Given the description of an element on the screen output the (x, y) to click on. 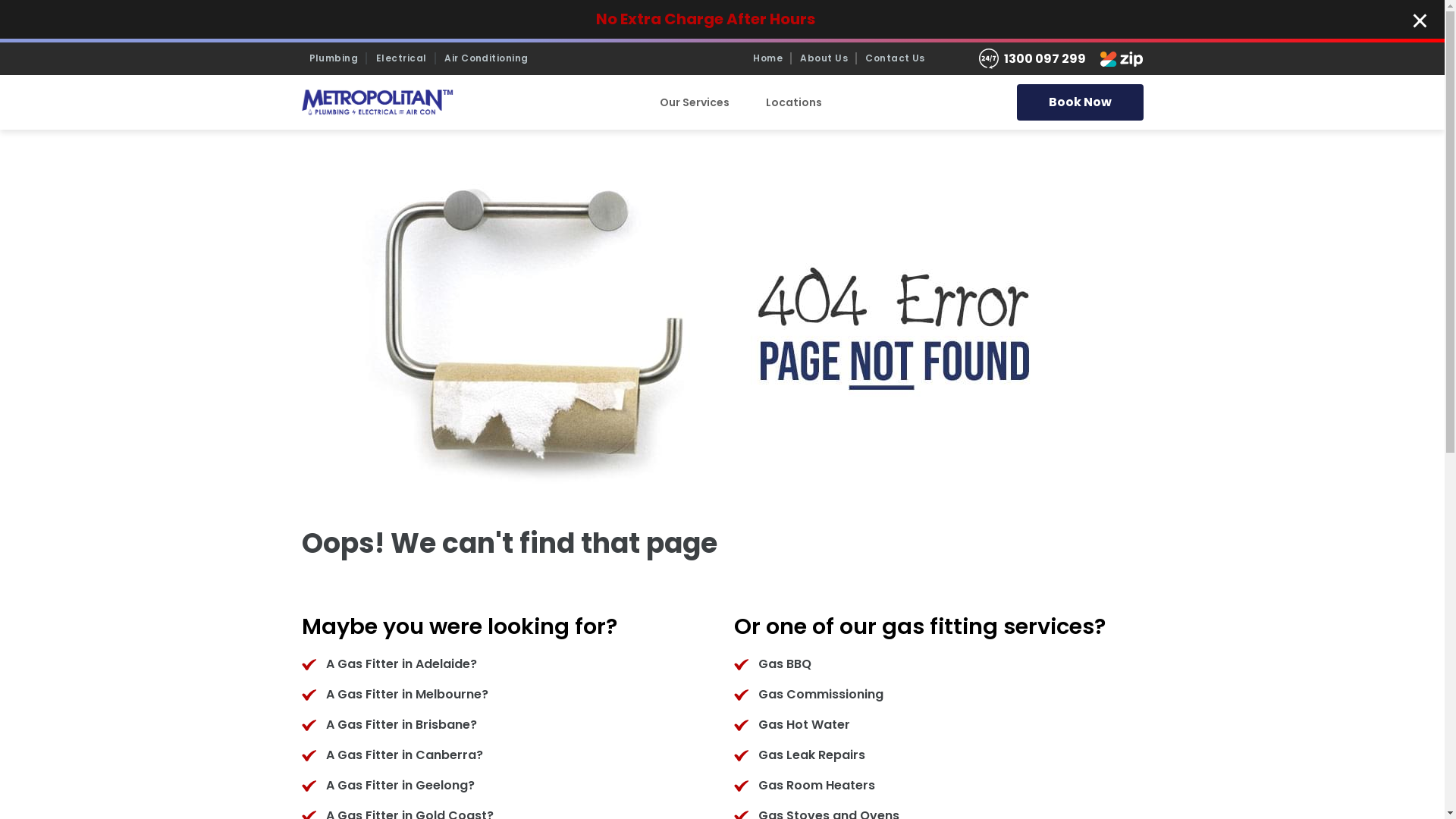
Gas Commissioning Element type: text (820, 693)
Our Services Element type: text (694, 102)
Locations Element type: text (793, 102)
Gas BBQ Element type: text (784, 663)
Contact Us Element type: text (894, 58)
Plumbing Element type: text (333, 58)
A Gas Fitter in Brisbane? Element type: text (401, 724)
A Gas Fitter in Adelaide? Element type: text (401, 663)
A Gas Fitter in Canberra? Element type: text (404, 754)
Air Conditioning Element type: text (486, 58)
Home Element type: text (767, 58)
Electrical Element type: text (401, 58)
1300 097 299 Element type: text (1044, 58)
About Us Element type: text (823, 58)
No Extra Charge After Hours Element type: text (705, 18)
Gas Hot Water Element type: text (804, 724)
24 Hour Services Element type: hover (990, 58)
Oops! Page not Found Element type: hover (721, 328)
Book Now Element type: text (1079, 102)
Gas Leak Repairs Element type: text (811, 754)
Gas Room Heaters Element type: text (816, 784)
Zip Pay Element type: hover (1115, 58)
A Gas Fitter in Geelong? Element type: text (400, 784)
A Gas Fitter in Melbourne? Element type: text (407, 693)
